Given the description of an element on the screen output the (x, y) to click on. 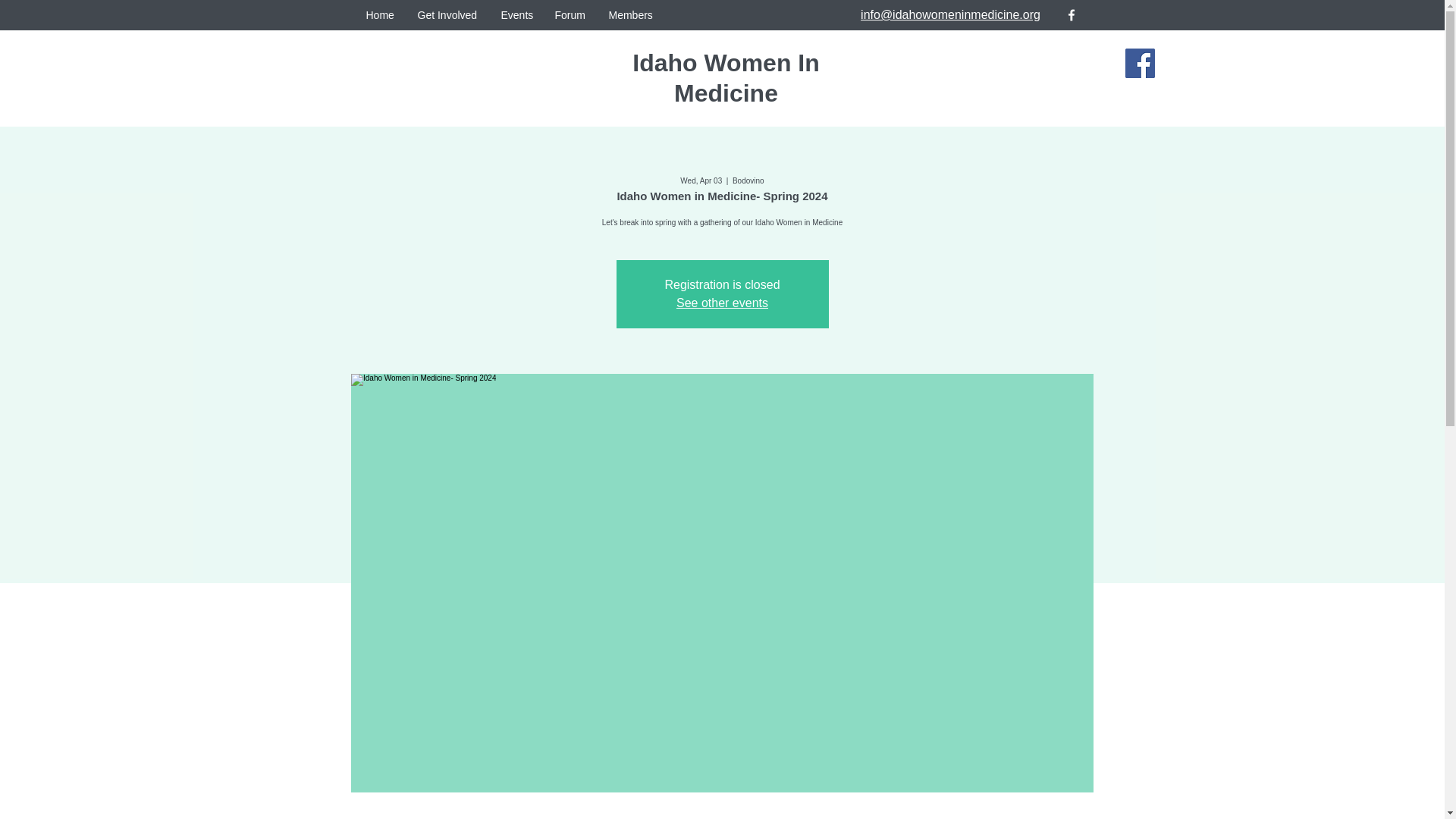
Events (516, 15)
See other events (722, 302)
Members (630, 15)
Get Involved (447, 15)
Home (380, 15)
Forum (569, 15)
